Given the description of an element on the screen output the (x, y) to click on. 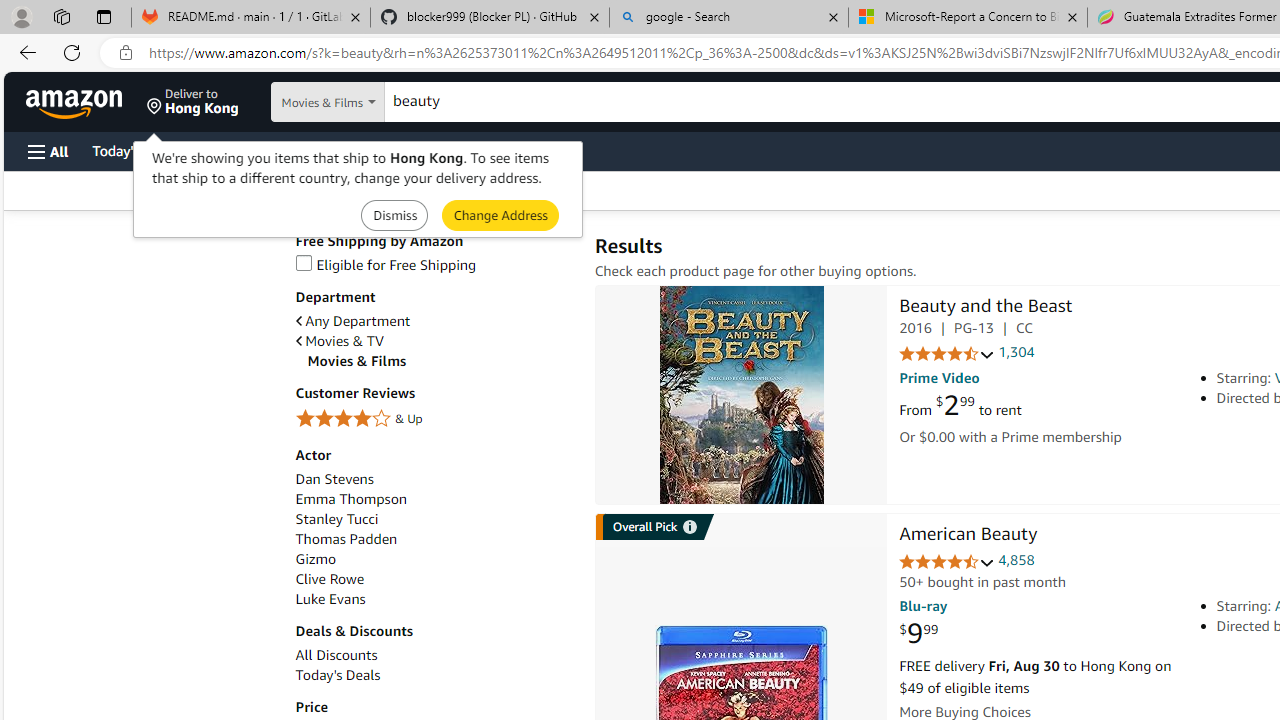
Stanley Tucci (336, 519)
Movies & TV (339, 341)
Sell (509, 150)
Registry (360, 150)
$9.99 (918, 634)
4.6 out of 5 stars (946, 562)
Dan Stevens (434, 479)
Beauty and the Beast (741, 394)
Today's Deals (337, 675)
4 Stars & Up (434, 419)
Prime Video (939, 378)
Amazon (76, 101)
Clive Rowe (434, 579)
